Given the description of an element on the screen output the (x, y) to click on. 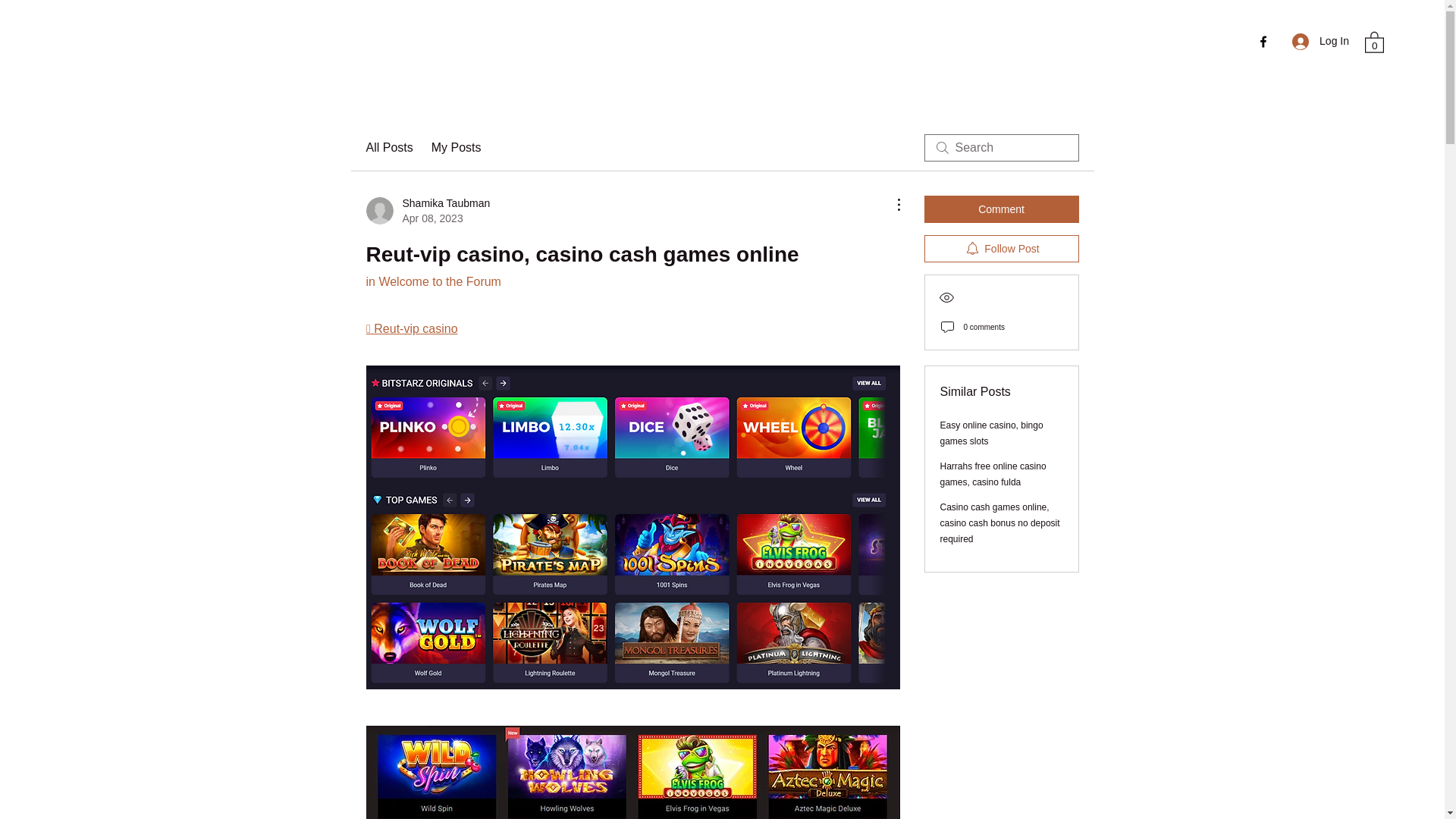
Log In (1320, 41)
My Posts (455, 147)
All Posts (388, 147)
Follow Post (427, 210)
Easy online casino, bingo games slots (1000, 248)
Harrahs free online casino games, casino fulda (991, 433)
in Welcome to the Forum (993, 474)
Comment (432, 281)
